Given the description of an element on the screen output the (x, y) to click on. 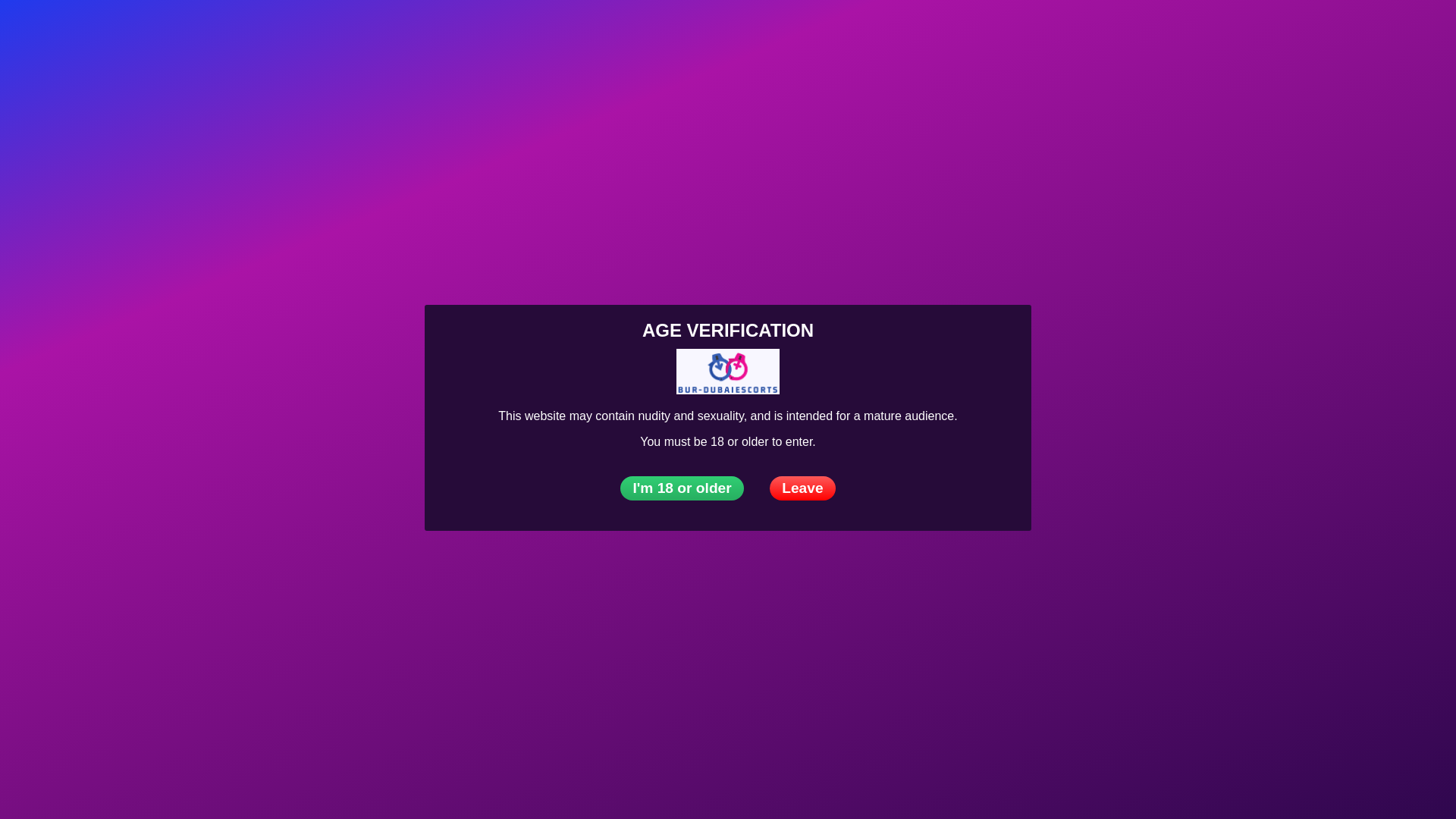
Our Blog (677, 33)
Home (152, 33)
Agencies (280, 33)
Escorts (212, 33)
Classified Ads (590, 33)
Contact Us (1427, 31)
Search (1395, 31)
Bur Dubai Escorts (152, 33)
Contact Us (754, 33)
Escort Reviews (483, 33)
